Given the description of an element on the screen output the (x, y) to click on. 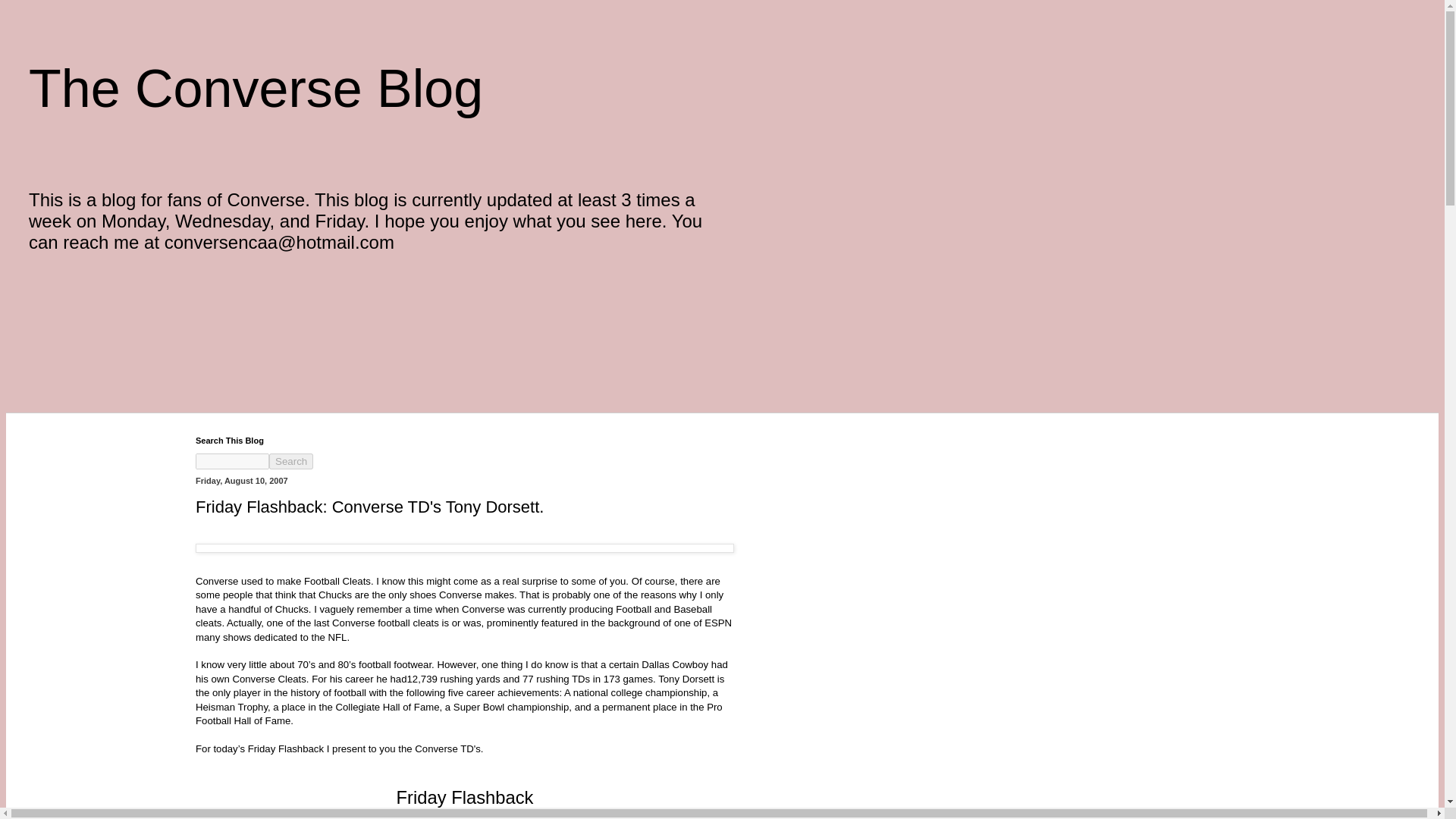
Search (291, 461)
Search (291, 461)
Search (291, 461)
Dallas Cowboy (676, 664)
search (291, 461)
The Converse Blog (256, 87)
Advertisement (281, 305)
Tony Dorsett (687, 678)
search (232, 461)
Advertisement (281, 376)
